Given the description of an element on the screen output the (x, y) to click on. 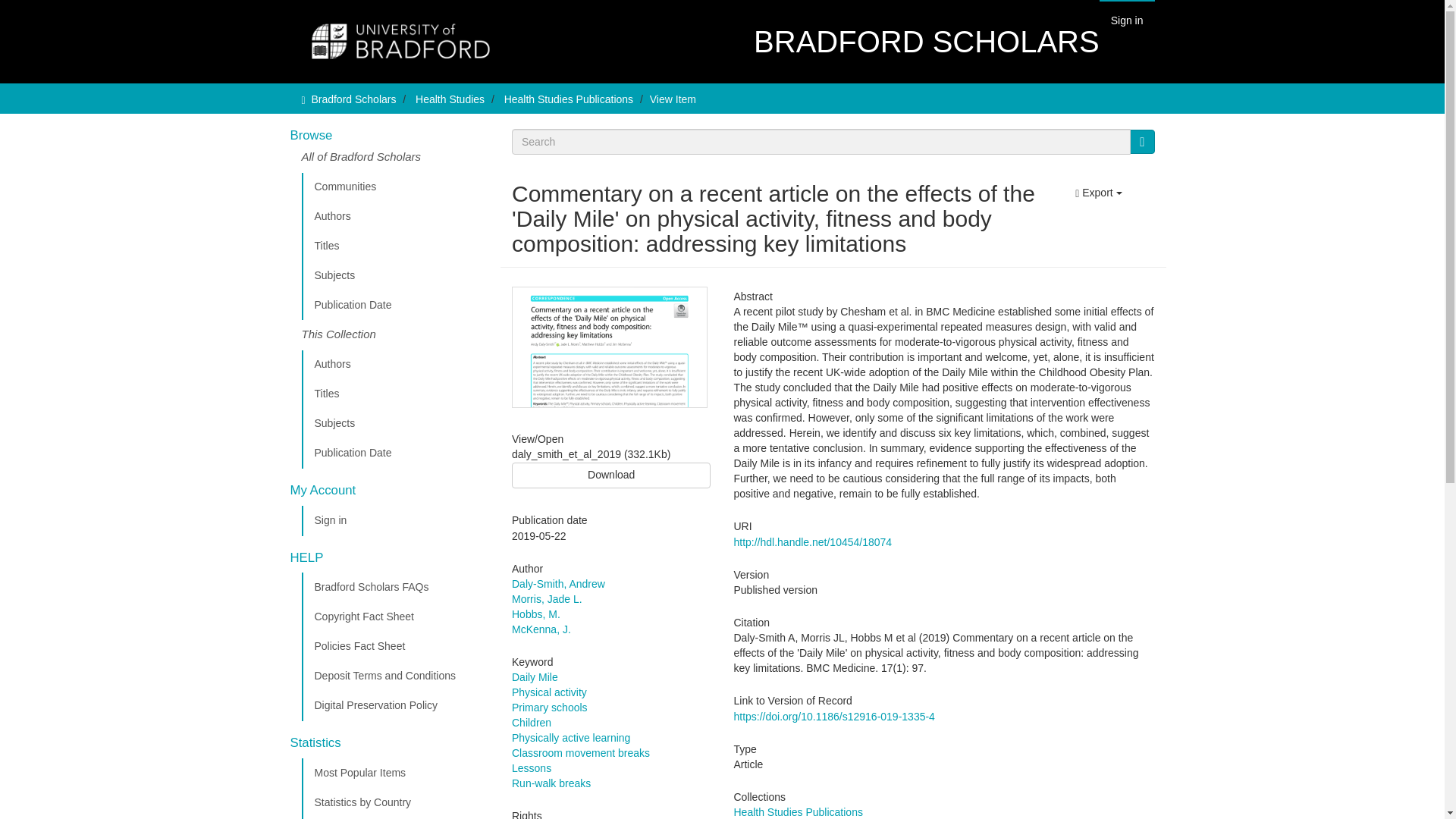
Policies Fact Sheet (395, 646)
Most Popular Items (395, 773)
Authors (395, 216)
Copyright Fact Sheet (395, 616)
Digital Preservation Policy (395, 706)
Authors (395, 364)
Titles (395, 394)
Subjects (395, 423)
This Collection (395, 335)
Sign in (1126, 19)
Go (1141, 141)
Statistics by Country (395, 802)
Subjects (395, 276)
Titles (395, 245)
